Given the description of an element on the screen output the (x, y) to click on. 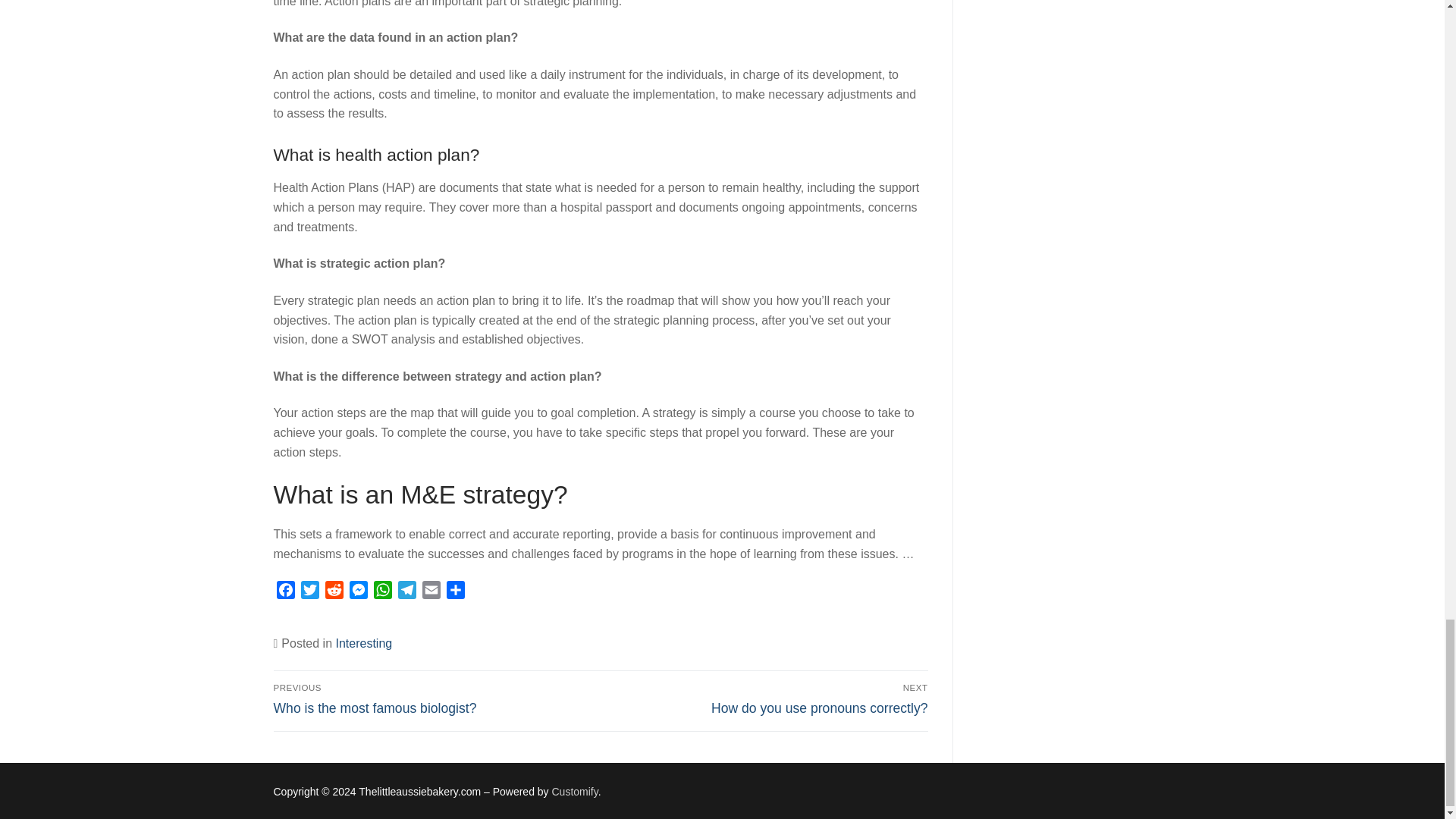
Interesting (362, 643)
Email (430, 592)
Telegram (406, 592)
Telegram (406, 592)
WhatsApp (381, 592)
Reddit (333, 592)
Messenger (357, 592)
WhatsApp (381, 592)
